Given the description of an element on the screen output the (x, y) to click on. 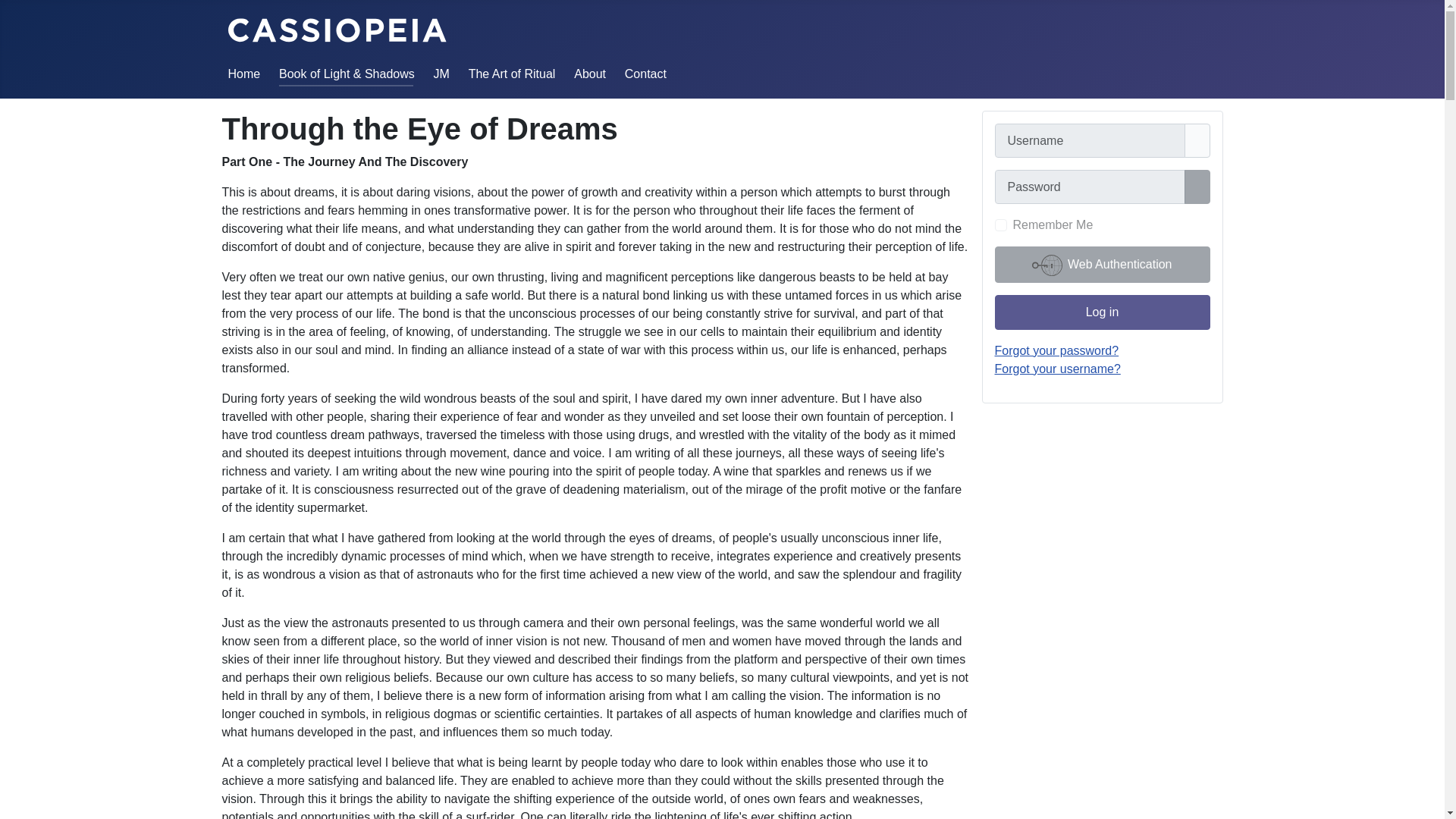
Forgot your username? (1057, 368)
Web Authentication (1101, 264)
Web Authentication (1101, 264)
Home (243, 73)
Log in (1101, 311)
Forgot your password? (1056, 350)
Contact (645, 73)
About (589, 73)
yes (1000, 224)
The Art of Ritual (512, 73)
